Given the description of an element on the screen output the (x, y) to click on. 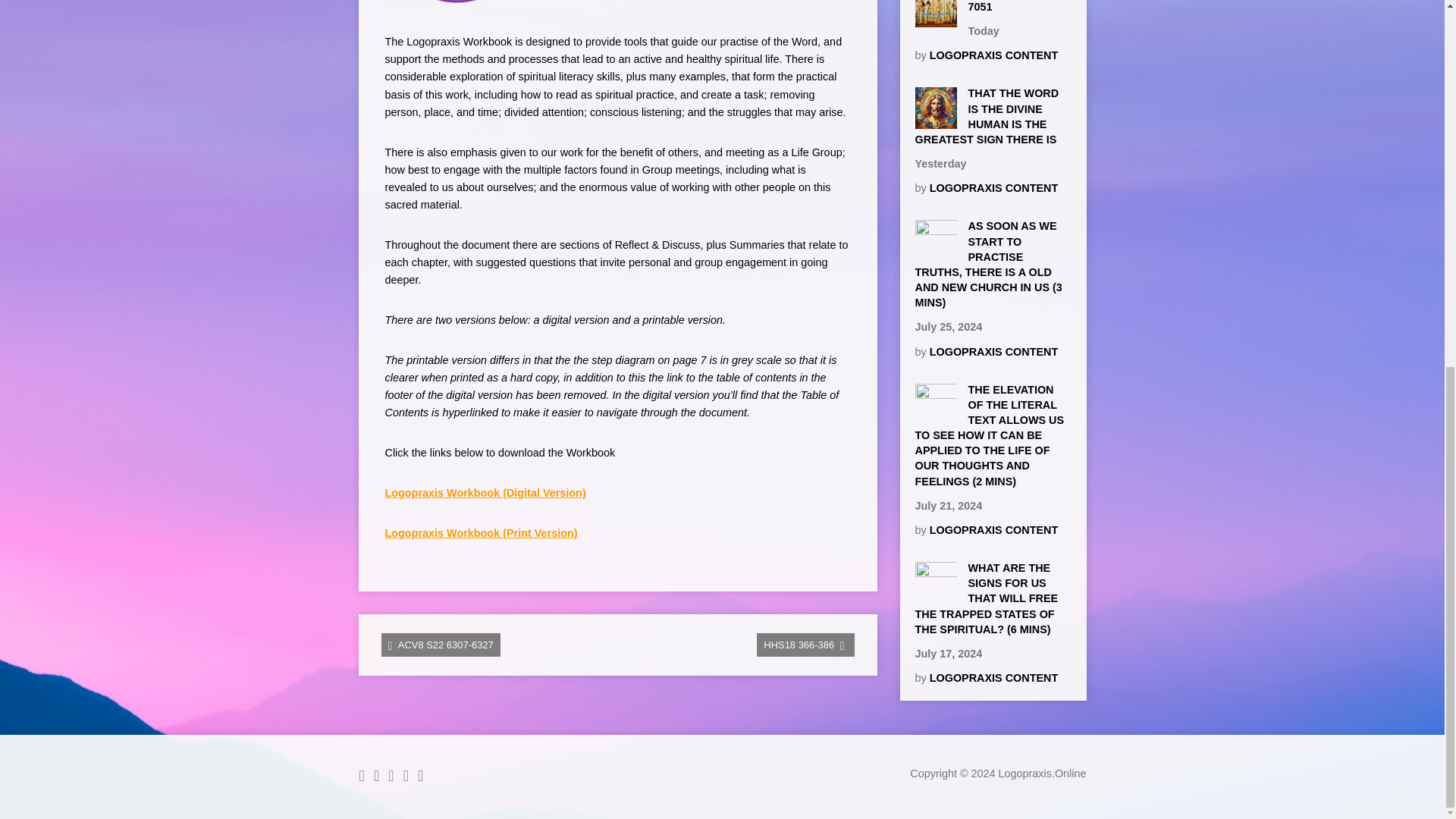
ACV9 S17 7027-7051 (1008, 6)
LOGOPRAXIS CONTENT (994, 55)
HHS18 366-386 (805, 644)
ACV9 S17 7027-7051 (1008, 6)
ACV8 S22 6307-6327 (439, 644)
ACV9 S17 7027-7051 (935, 19)
